Given the description of an element on the screen output the (x, y) to click on. 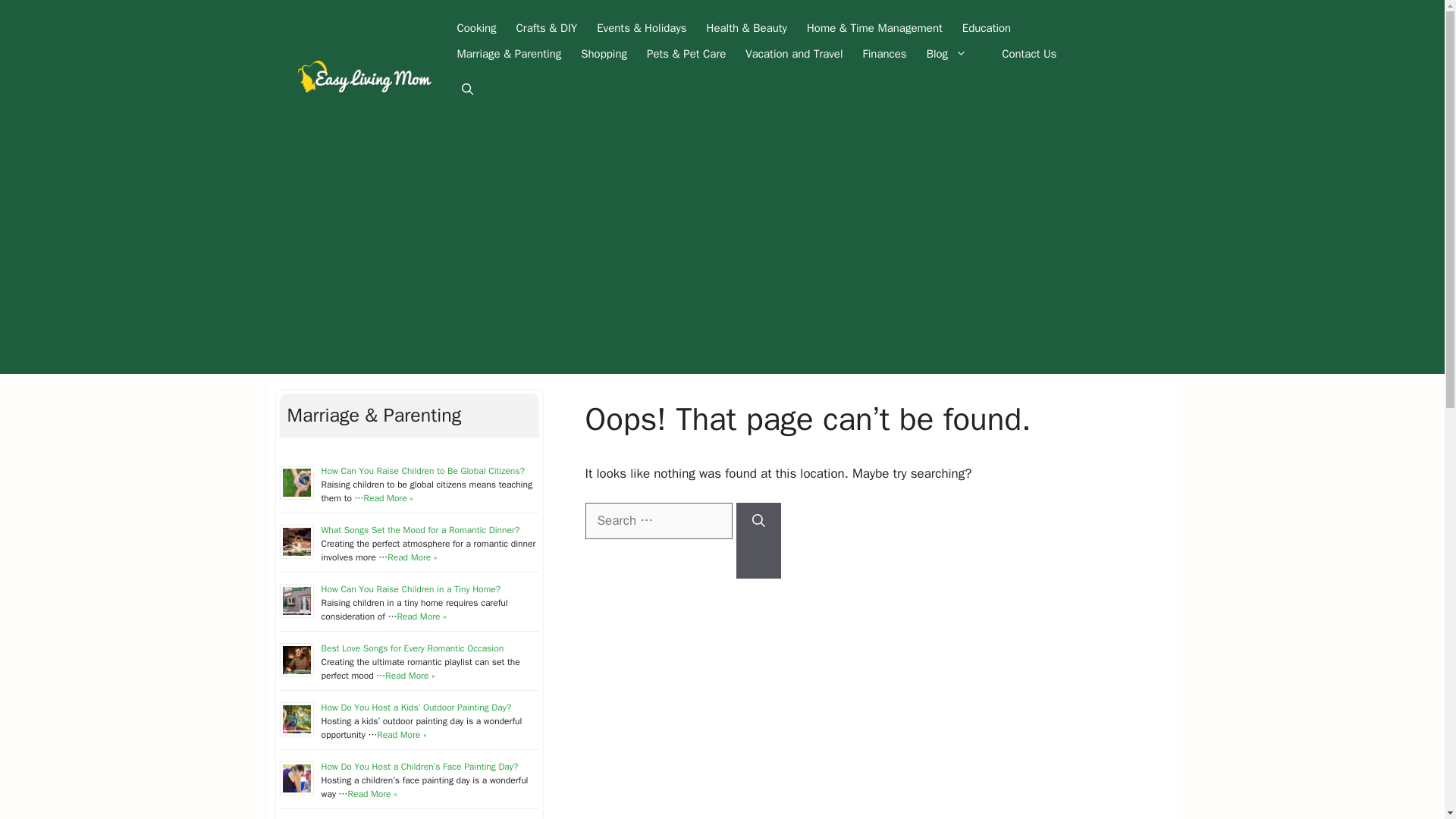
Finances (885, 53)
Blog (954, 53)
Vacation and Travel (793, 53)
Search for: (658, 520)
Shopping (603, 53)
Education (986, 27)
Cooking (475, 27)
